Given the description of an element on the screen output the (x, y) to click on. 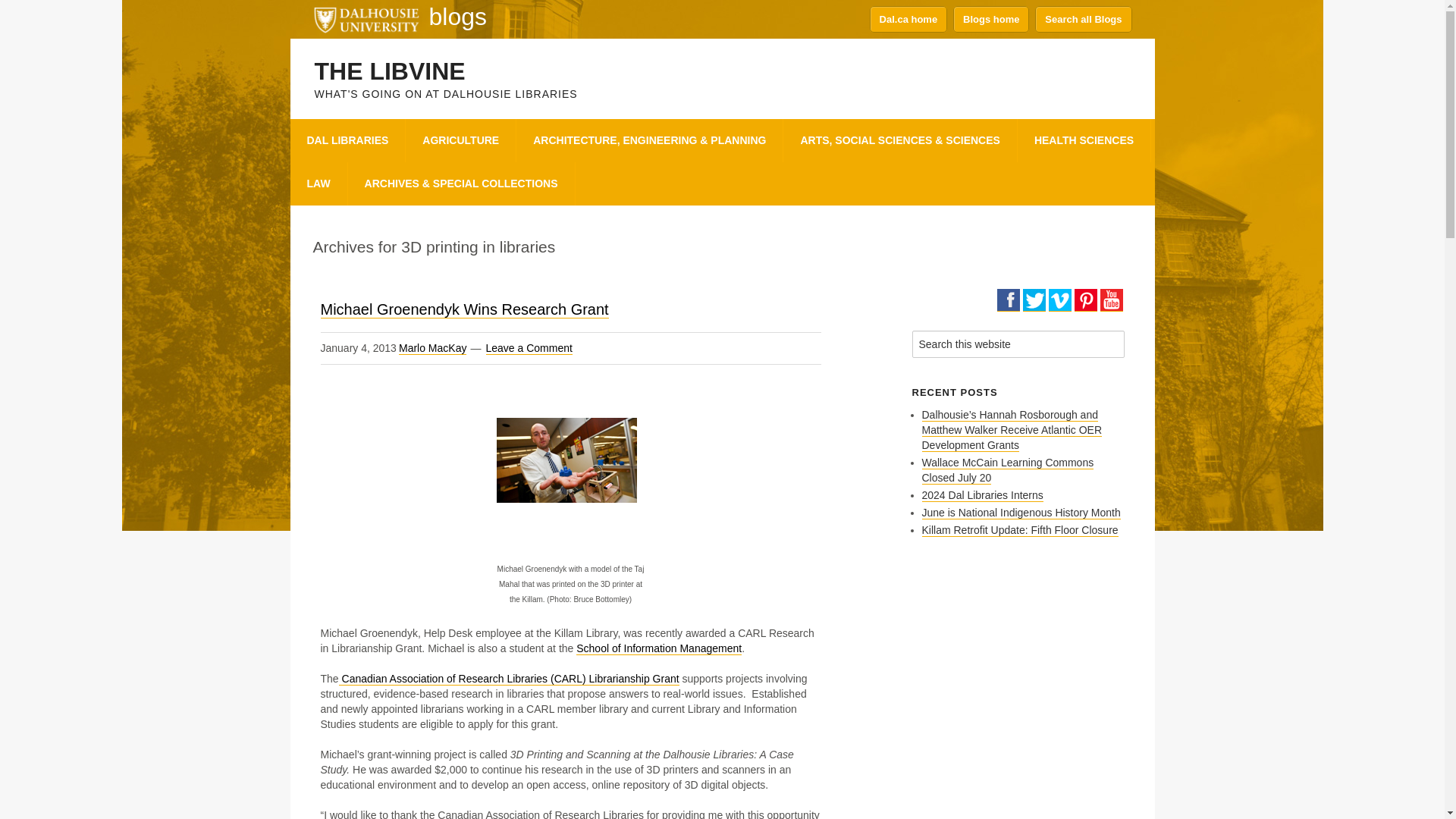
Michael Groenendyk Wins Research Grant (464, 309)
HEALTH SCIENCES (1084, 140)
Blogs home (991, 18)
Search all Blogs (1083, 18)
DAL LIBRARIES (347, 140)
LAW (318, 183)
AGRICULTURE (461, 140)
Leave a Comment (528, 348)
Dal.ca home (908, 18)
THE LIBVINE (389, 71)
blogs (458, 16)
Marlo MacKay (431, 348)
School of Information Management (658, 648)
